Given the description of an element on the screen output the (x, y) to click on. 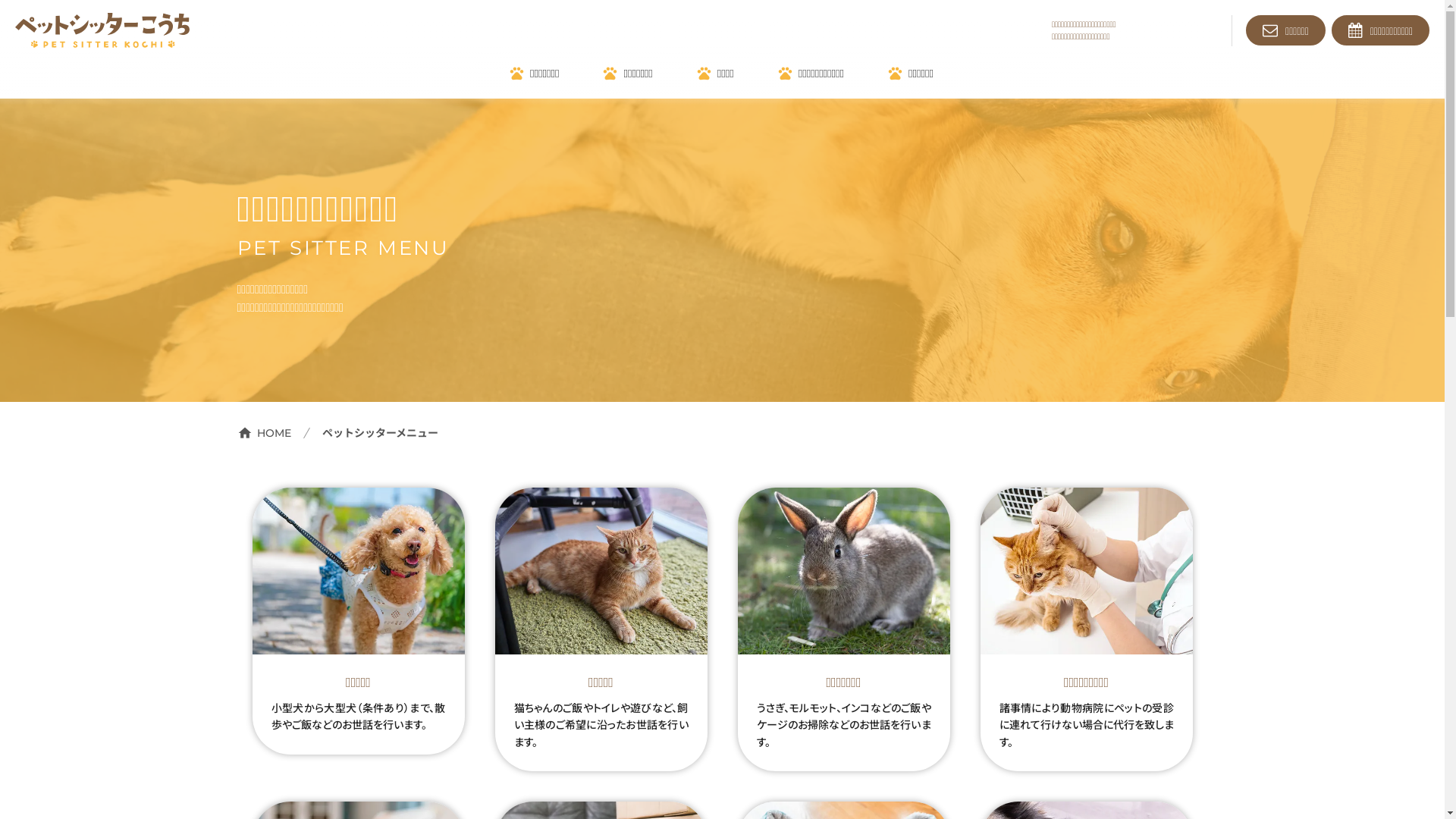
home
HOME Element type: text (263, 432)
